Given the description of an element on the screen output the (x, y) to click on. 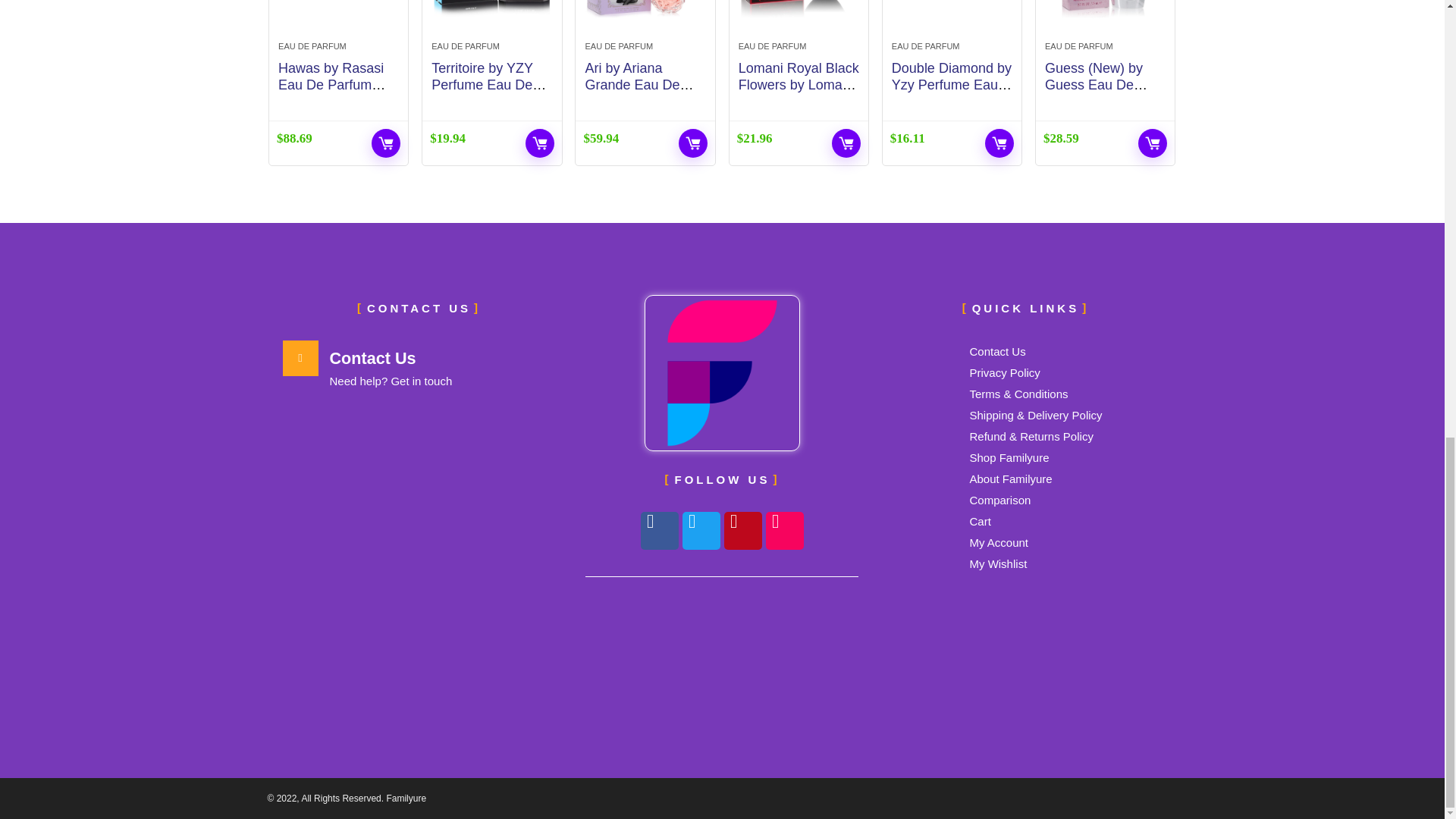
ADD TO CART (385, 143)
EAU DE PARFUM (312, 45)
EAU DE PARFUM (464, 45)
Hawas by Rasasi Eau De Parfum Spray 3.33 oz For Men (332, 93)
